Given the description of an element on the screen output the (x, y) to click on. 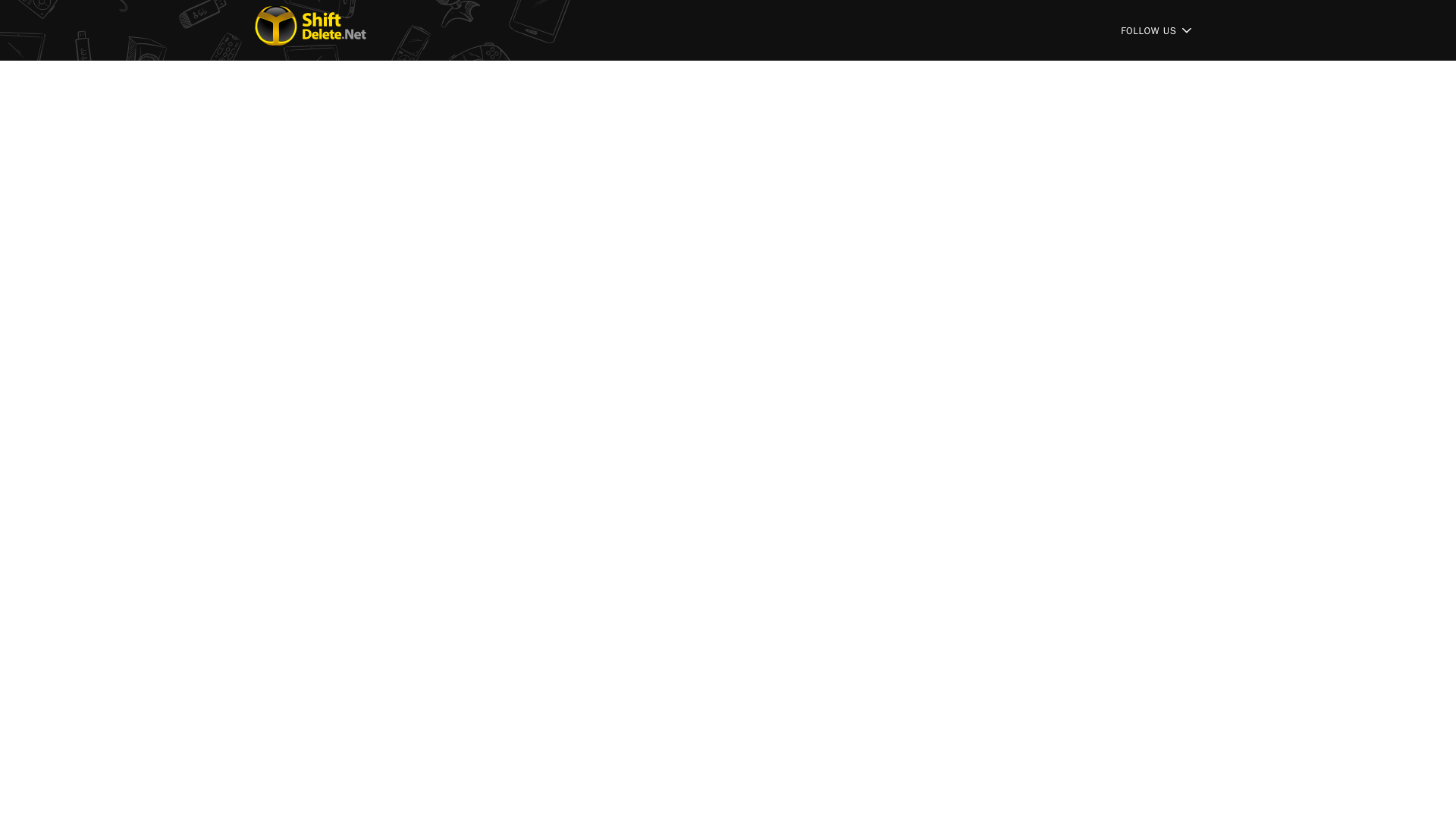
ShiftDelete.Net Global (310, 29)
